Given the description of an element on the screen output the (x, y) to click on. 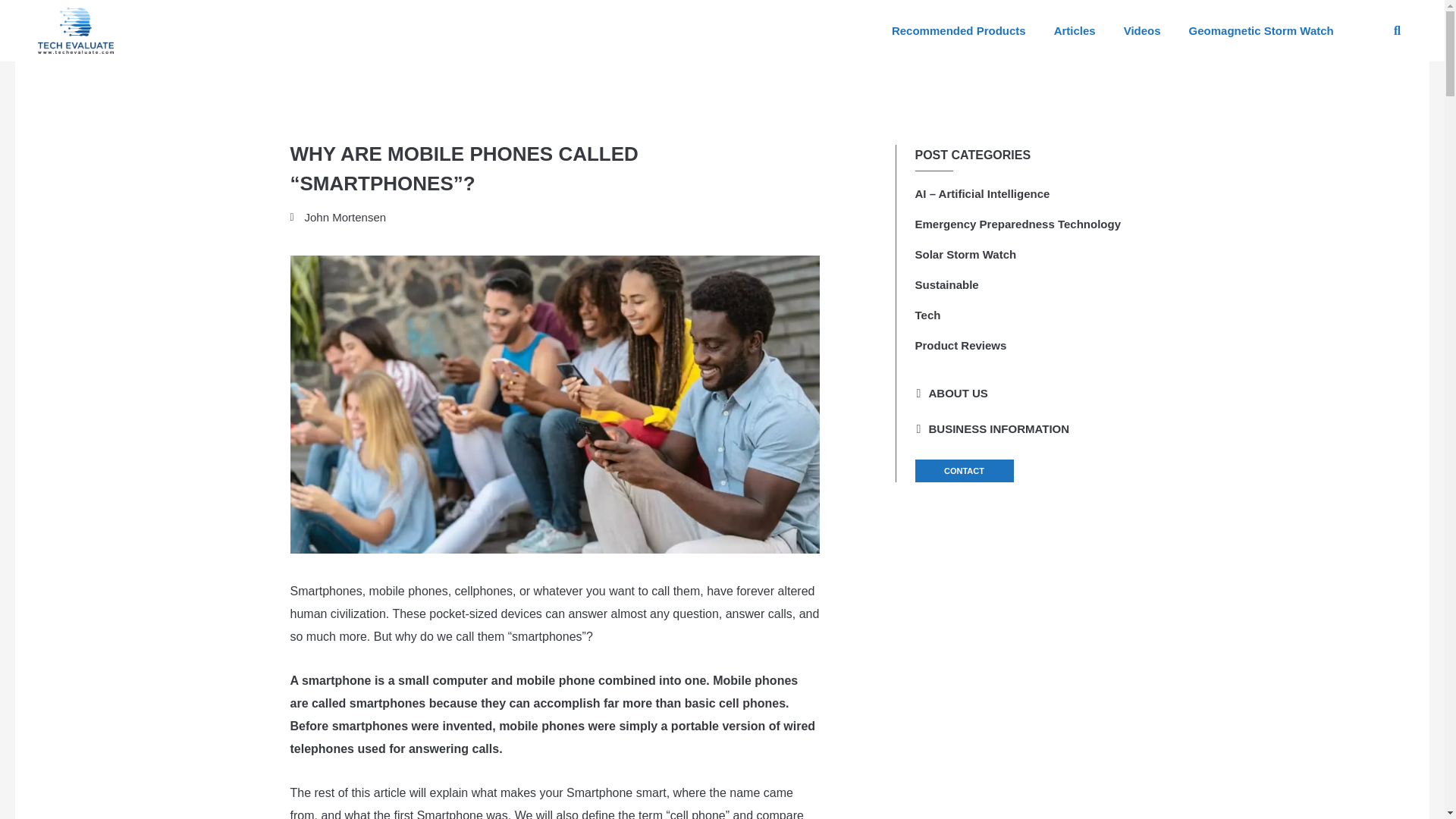
Geomagnetic Storm Watch (1261, 30)
Recommended Products (958, 30)
John Mortensen (337, 217)
Videos (1142, 30)
Articles (1074, 30)
